Given the description of an element on the screen output the (x, y) to click on. 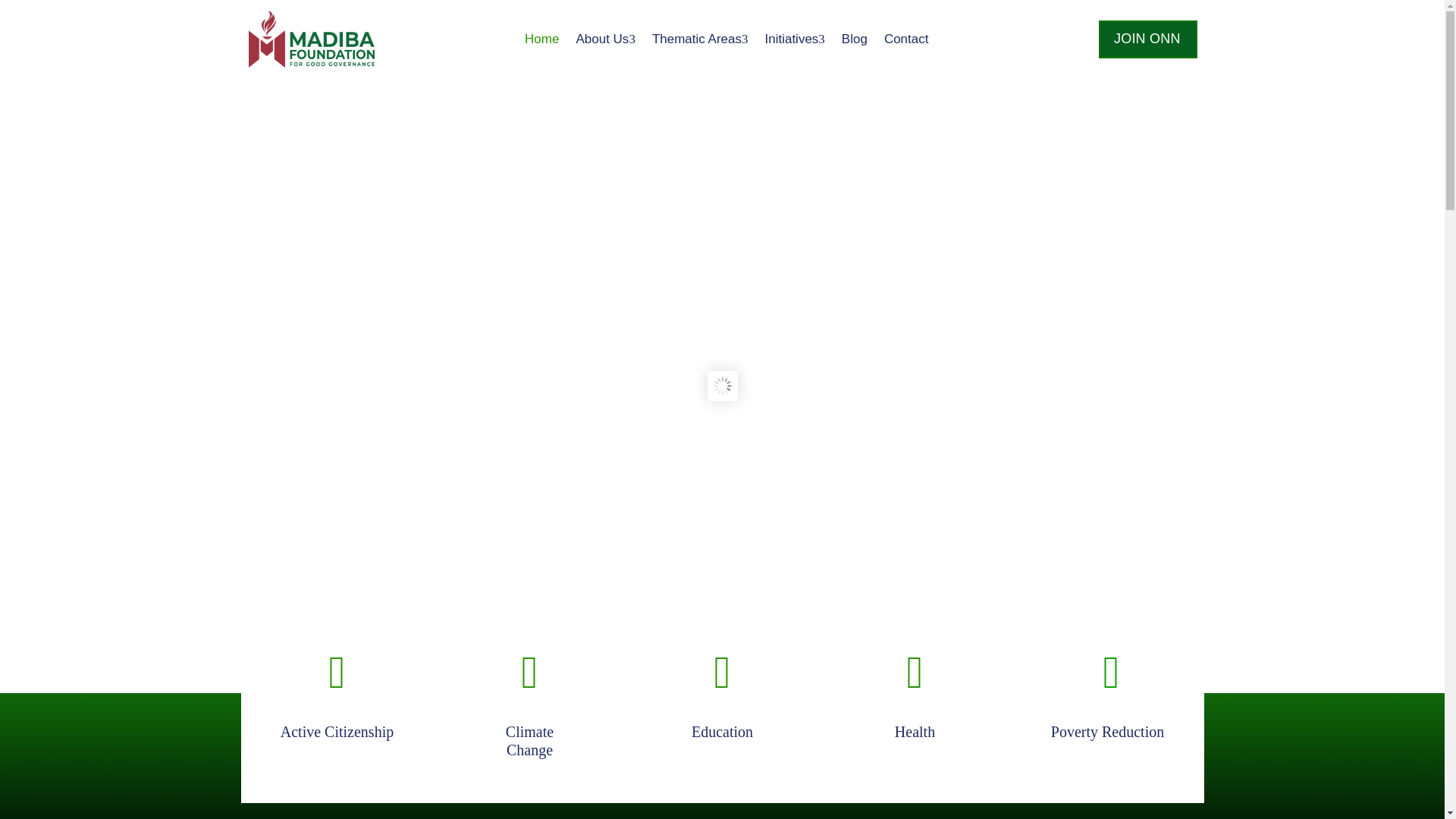
Education (721, 731)
Poverty Reduction (1107, 731)
About Us (605, 39)
Thematic Areas (700, 39)
Active Citizenship (337, 731)
JOIN ONN (1147, 39)
Initiatives (793, 39)
Health (529, 740)
